Given the description of an element on the screen output the (x, y) to click on. 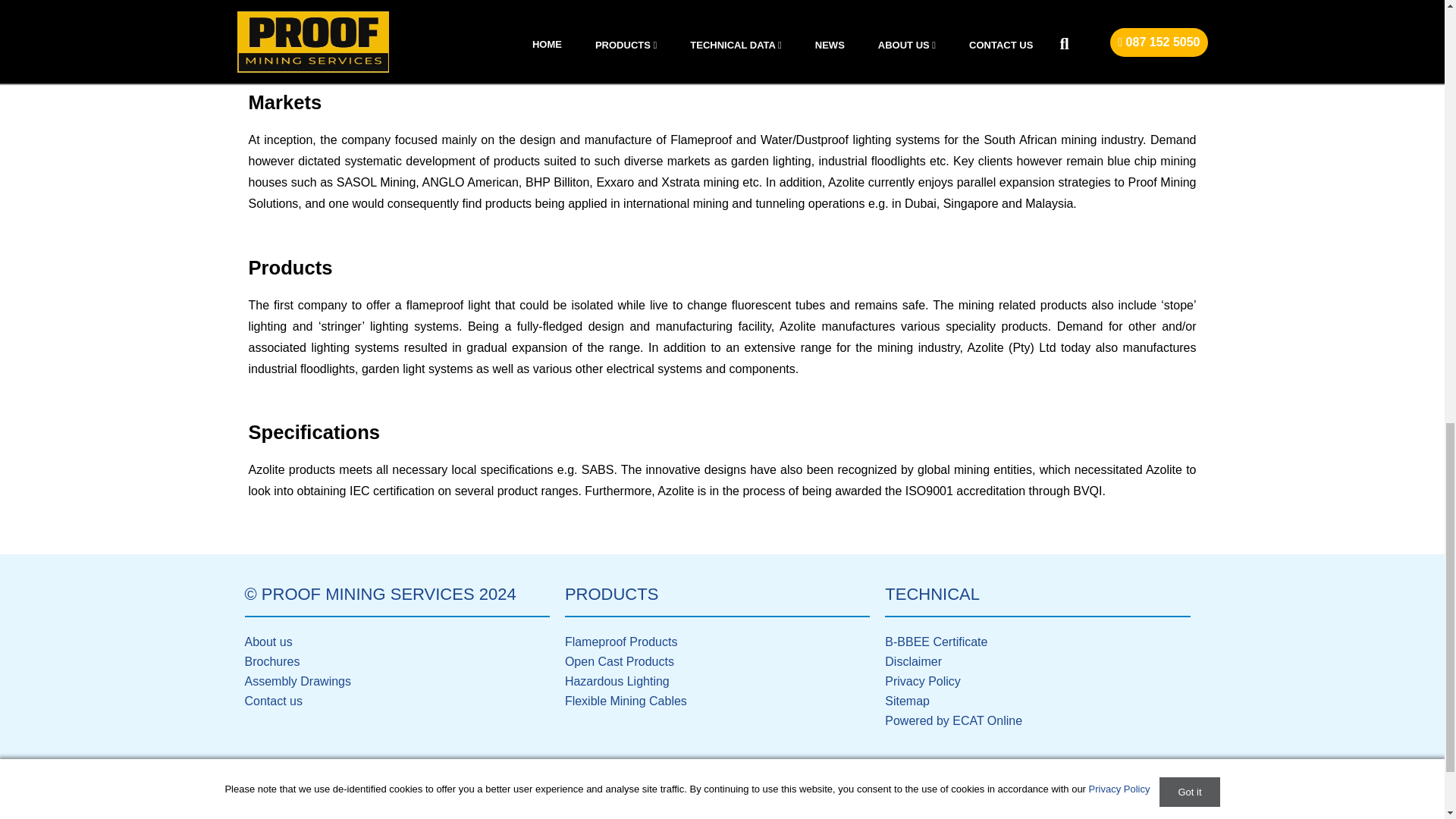
Brochures (271, 661)
Flameproof Products (621, 641)
Open Cast Products (619, 661)
B-BBEE Certificate (936, 641)
087 152 5050 (305, 801)
Sitemap (907, 700)
Disclaimer (913, 661)
Privacy Policy (922, 680)
Powered by ECAT Online (953, 720)
About us (268, 641)
